Given the description of an element on the screen output the (x, y) to click on. 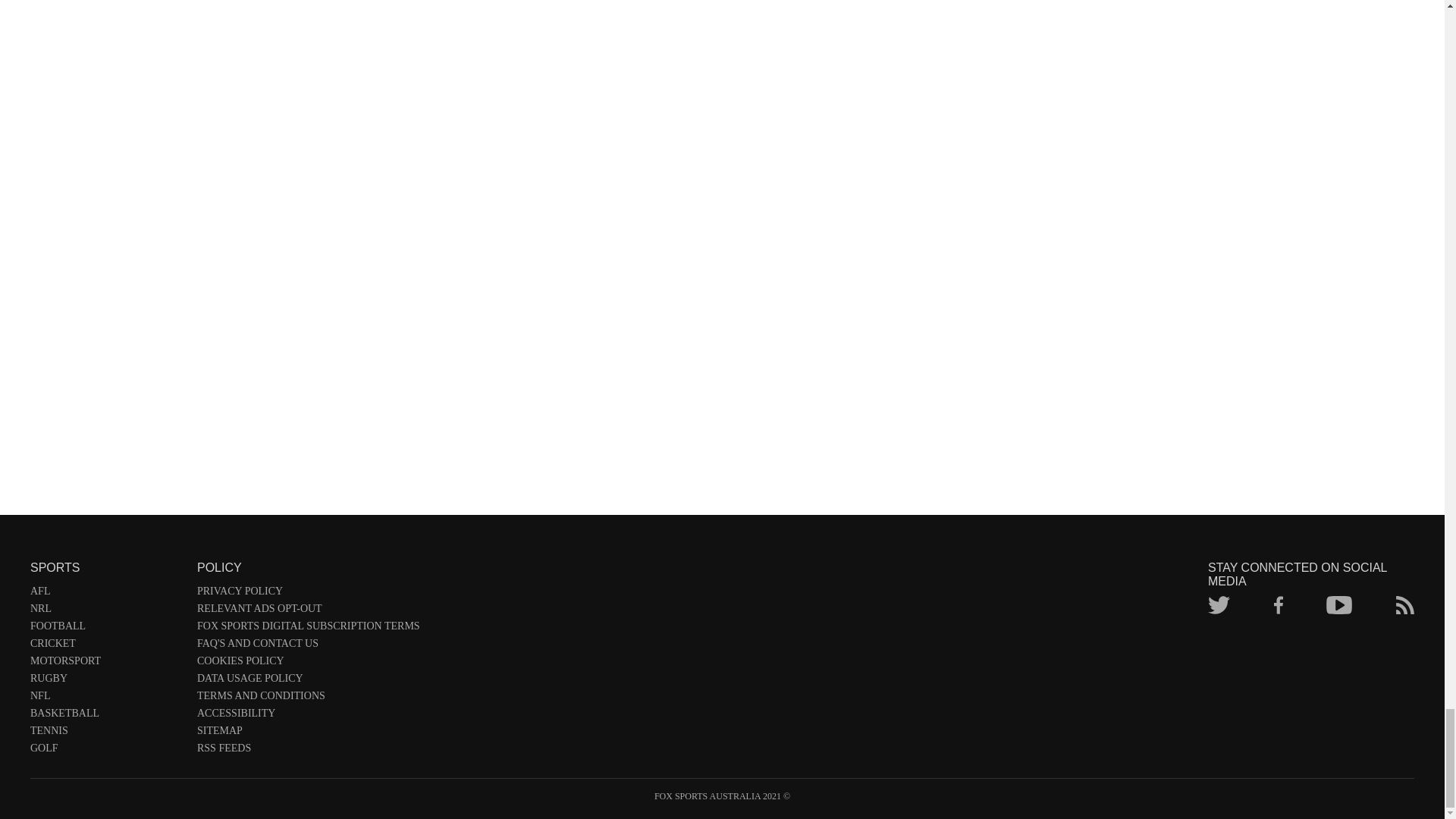
CRICKET (106, 646)
NRL (106, 610)
FOOTBALL (106, 628)
AFL (106, 593)
